Given the description of an element on the screen output the (x, y) to click on. 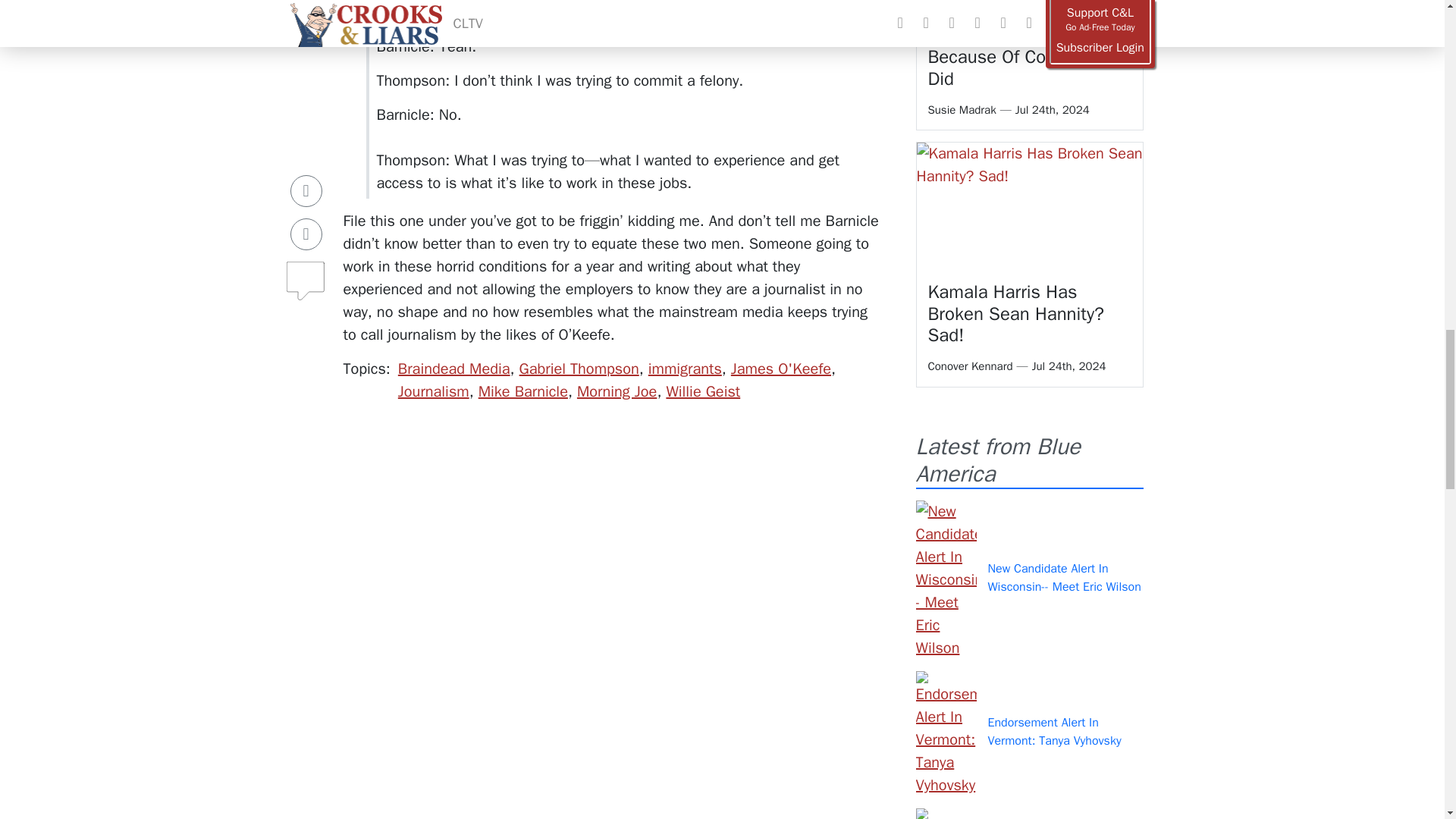
Morning Joe (616, 391)
Journalism (432, 391)
James O'Keefe (780, 368)
Braindead Media (454, 368)
immigrants (684, 368)
Mike Barnicle (523, 391)
Gabriel Thompson (579, 368)
Willie Geist (702, 391)
